Given the description of an element on the screen output the (x, y) to click on. 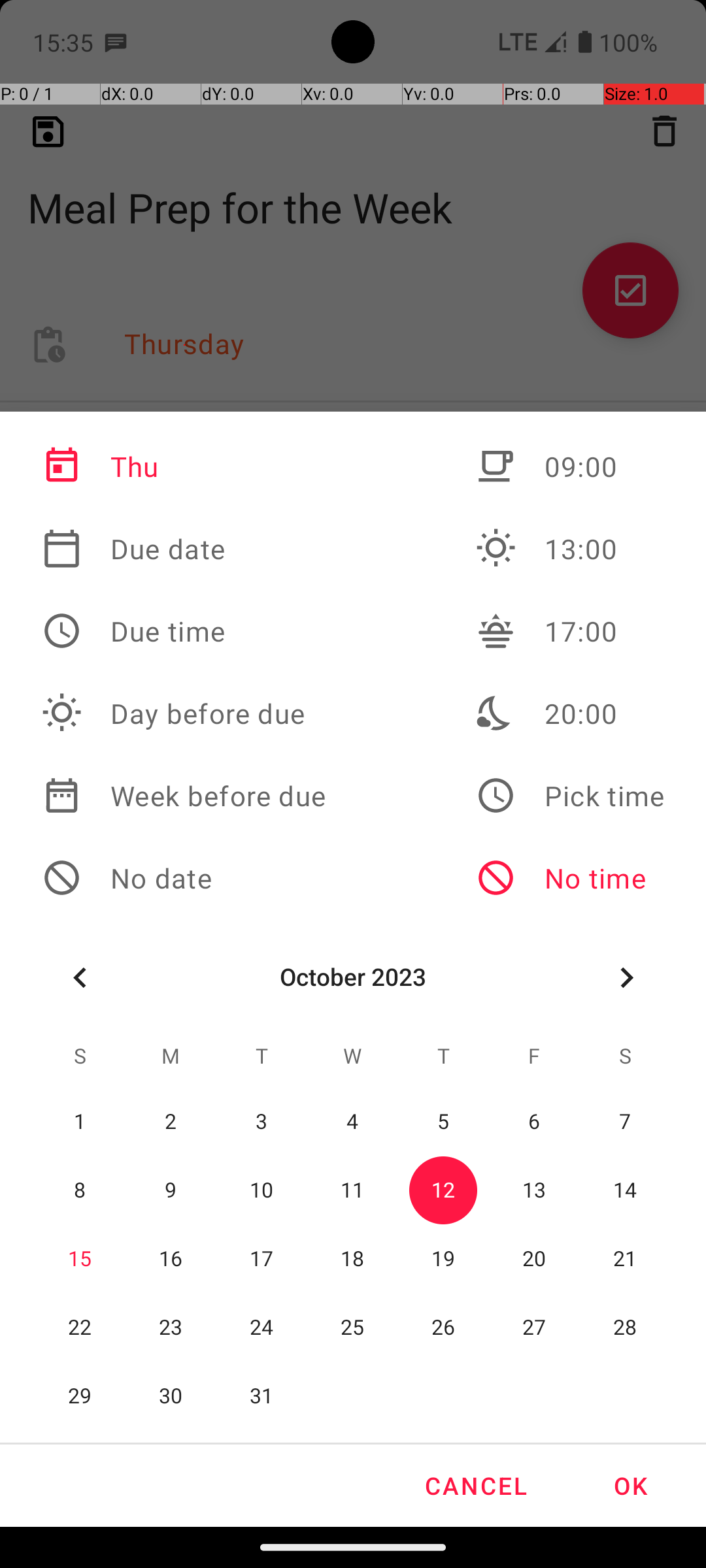
Due date Element type: android.widget.CompoundButton (183, 548)
Due time Element type: android.widget.CompoundButton (183, 630)
Day before due Element type: android.widget.CompoundButton (183, 713)
Week before due Element type: android.widget.CompoundButton (183, 795)
